Given the description of an element on the screen output the (x, y) to click on. 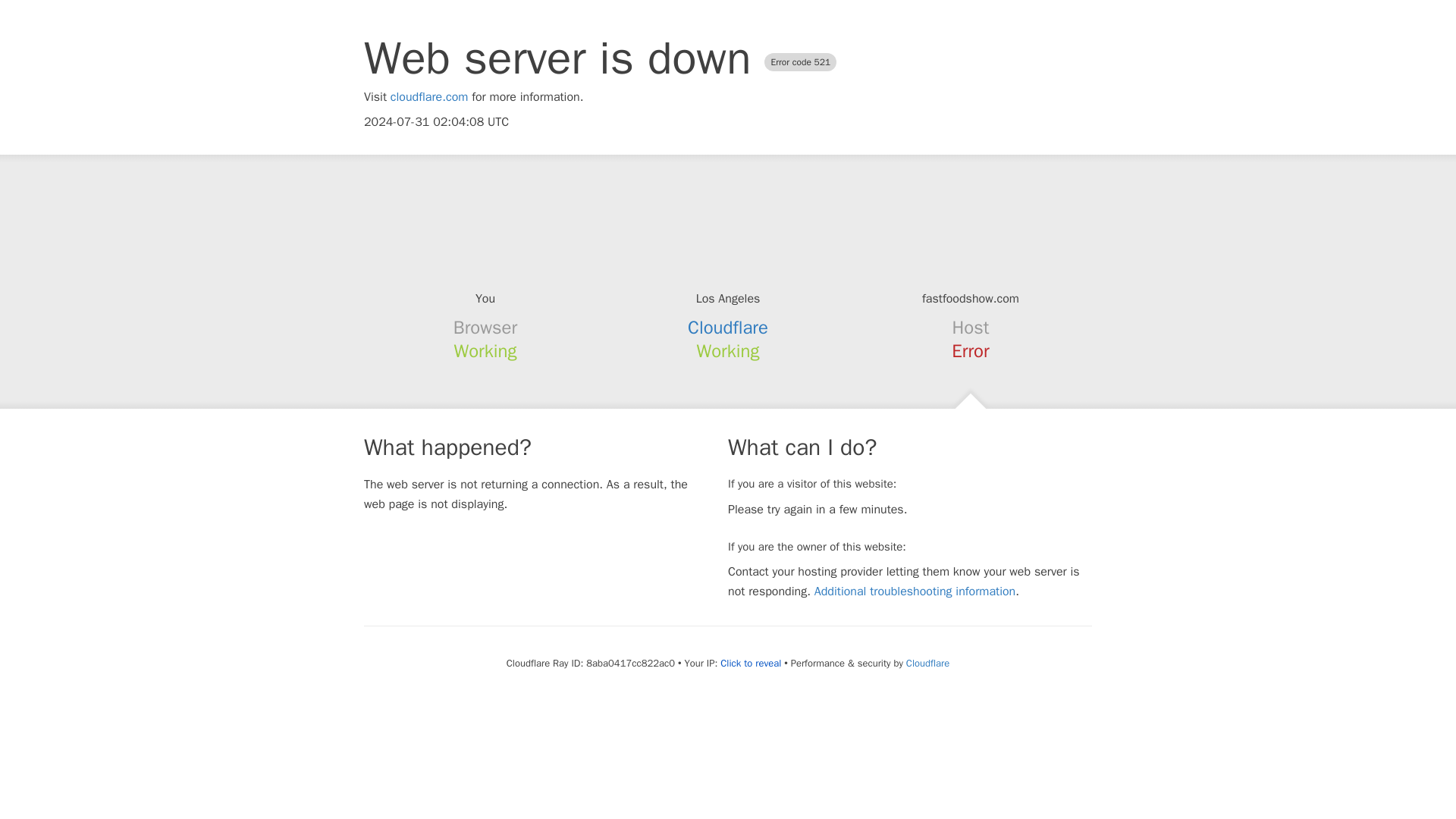
Additional troubleshooting information (913, 590)
Click to reveal (750, 663)
Cloudflare (727, 327)
cloudflare.com (429, 96)
Cloudflare (927, 662)
